Given the description of an element on the screen output the (x, y) to click on. 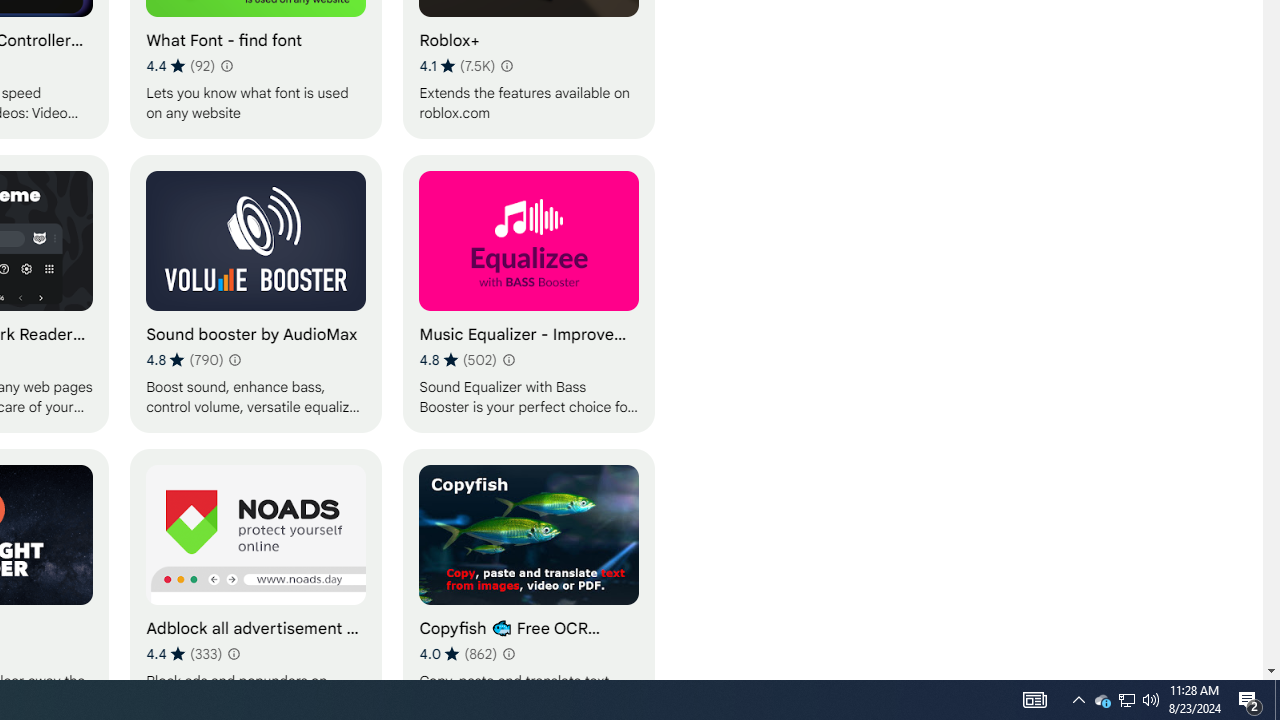
Average rating 4.8 out of 5 stars. 790 ratings. (184, 359)
Average rating 4.0 out of 5 stars. 862 ratings. (457, 653)
Learn more about results and reviews "What Font - find font" (226, 65)
Average rating 4.4 out of 5 stars. 92 ratings. (180, 66)
Average rating 4.1 out of 5 stars. 7.5K ratings. (457, 66)
Average rating 4.4 out of 5 stars. 333 ratings. (183, 653)
Music Equalizer - Improve Sound for everyone (529, 293)
Learn more about results and reviews "Roblox+" (506, 65)
Sound booster by AudioMax (256, 293)
Average rating 4.8 out of 5 stars. 502 ratings. (457, 359)
